Given the description of an element on the screen output the (x, y) to click on. 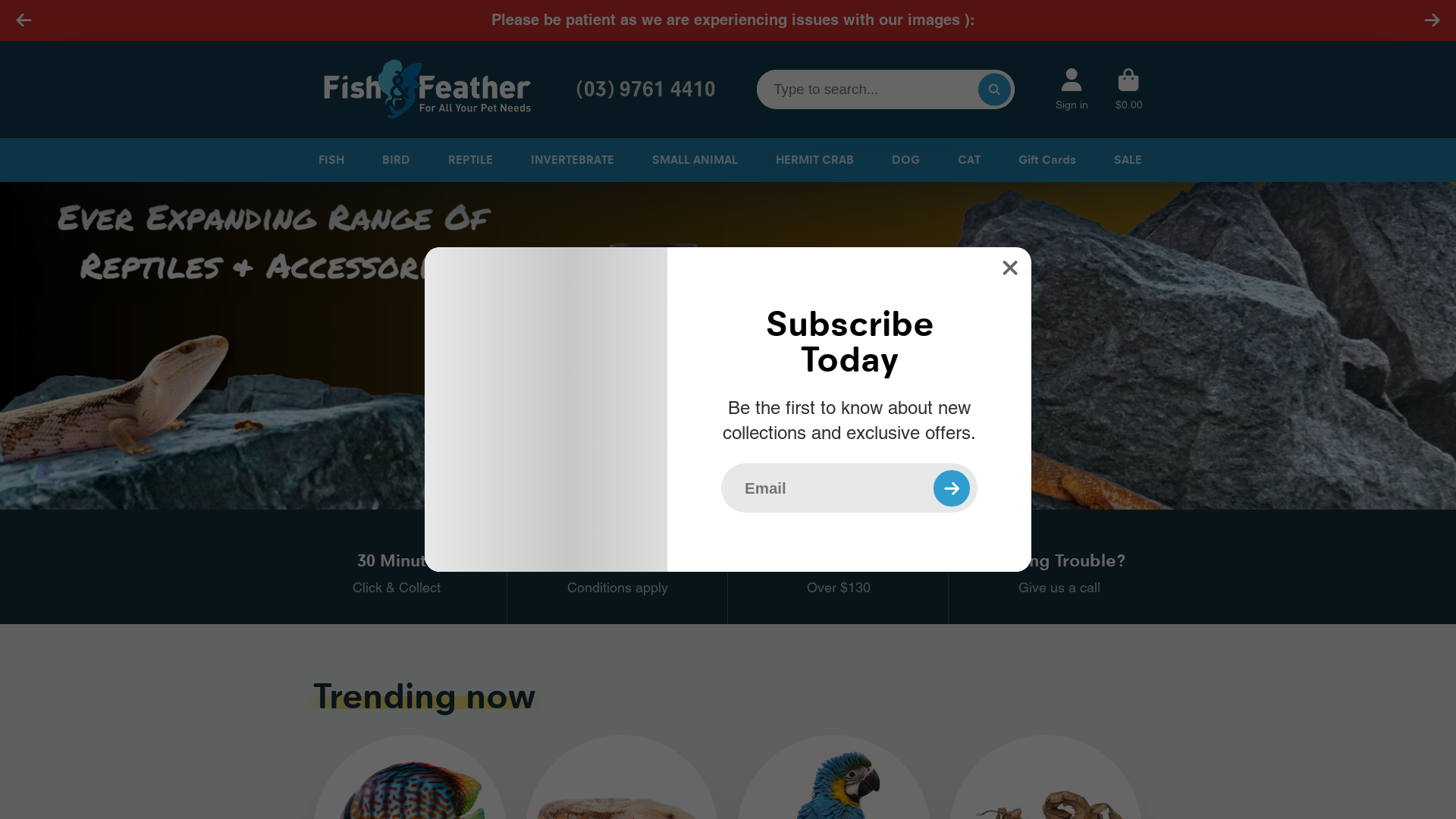
SMALL ANIMAL Element type: text (692, 160)
REPTILE Element type: text (467, 160)
BIRD Element type: text (393, 160)
SALE Element type: text (1125, 160)
FISH Element type: text (328, 160)
INVERTEBRATE Element type: text (570, 160)
Gift Cards Element type: text (1044, 160)
Account Element type: text (1071, 88)
(03) 9761 4410 Element type: text (641, 88)
HERMIT CRAB Element type: text (812, 160)
Cart Element type: text (1128, 88)
CAT Element type: text (966, 160)
Logo Element type: text (426, 89)
DOG Element type: text (903, 160)
